Given the description of an element on the screen output the (x, y) to click on. 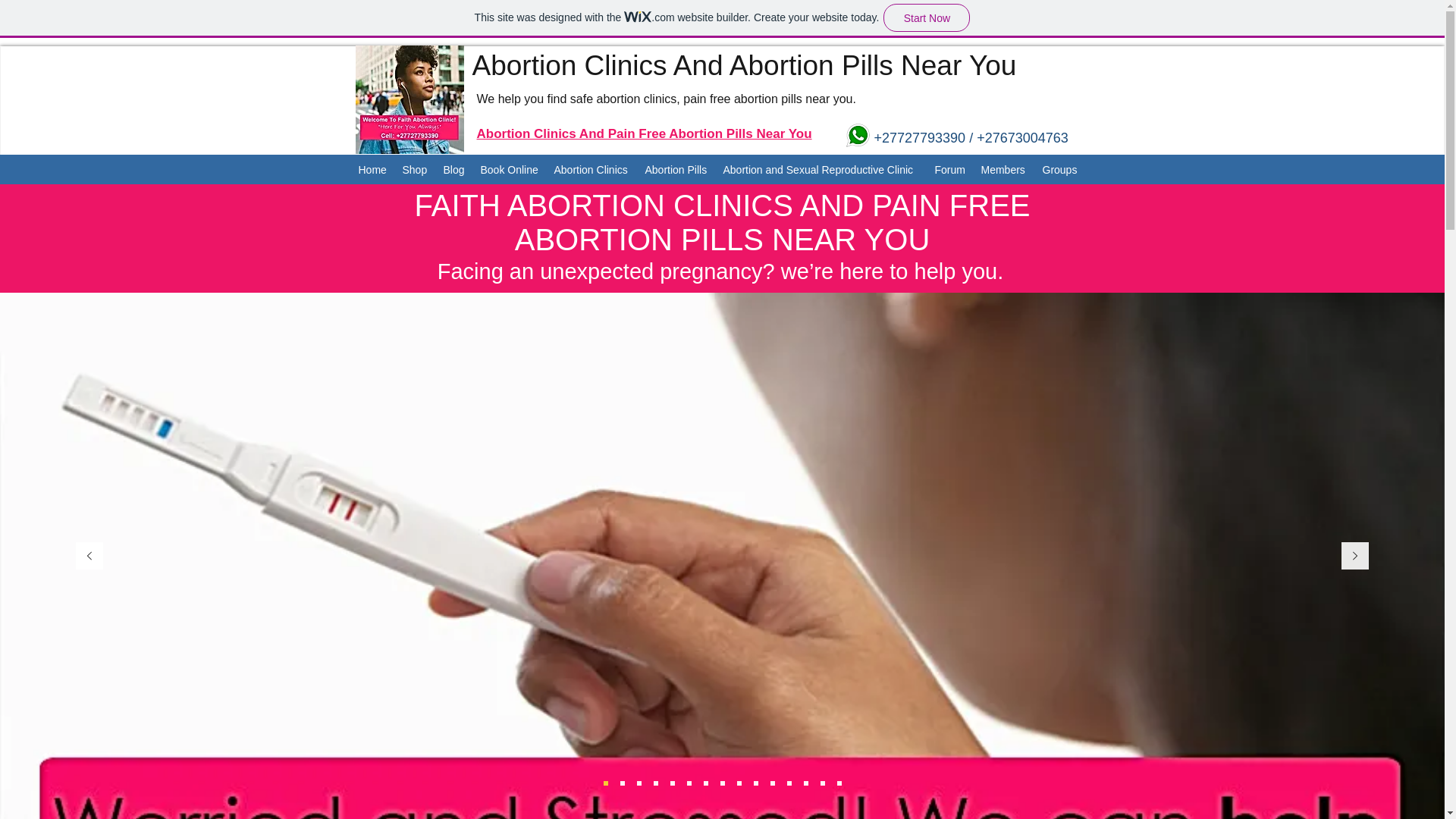
Blog (453, 169)
Home (372, 169)
Abortion Clinics (591, 169)
Book Online (510, 169)
Wix Chat (140, 794)
Shop (414, 169)
